Given the description of an element on the screen output the (x, y) to click on. 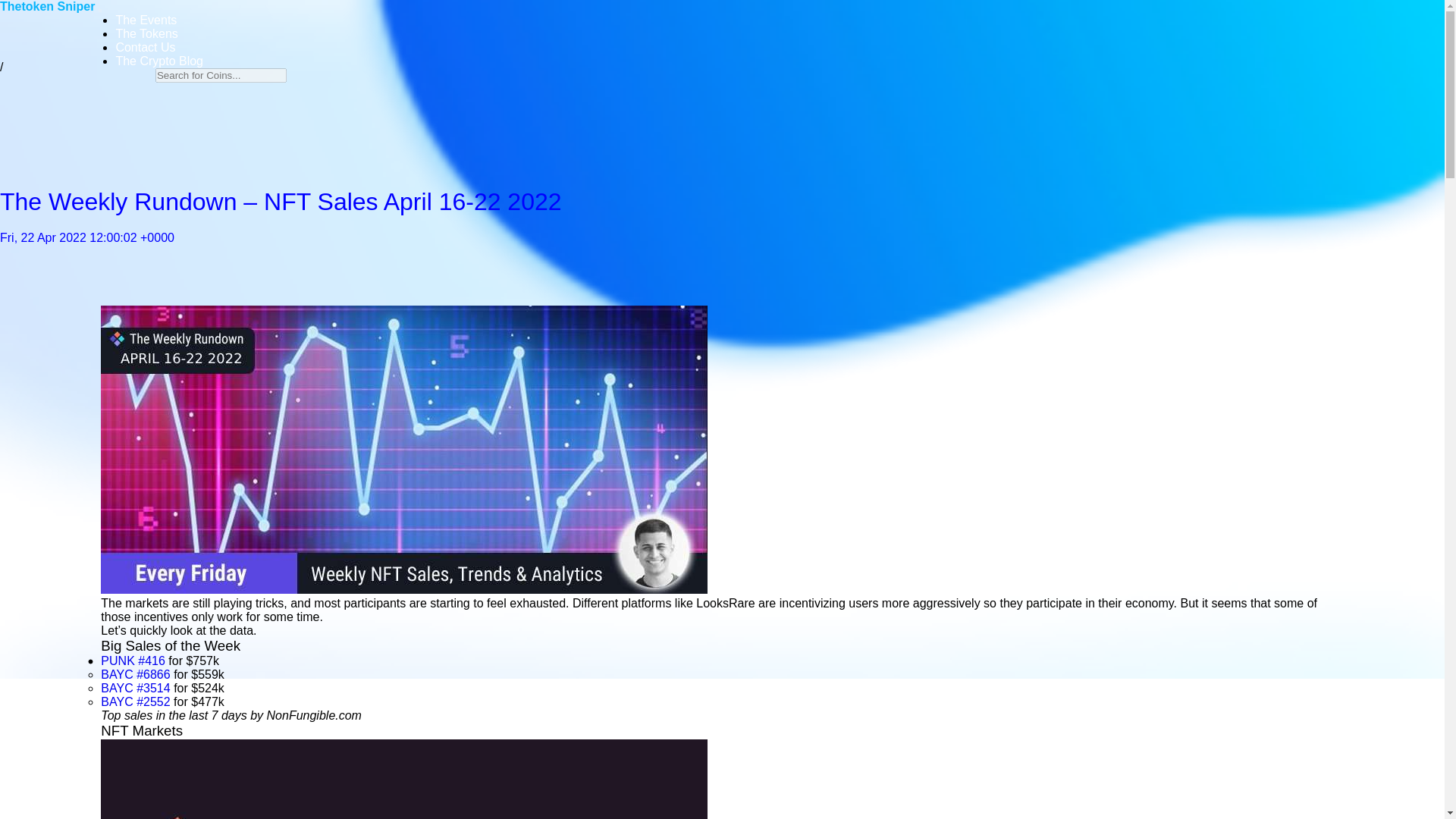
The Crypto Blog (159, 60)
Thetoken Sniper (49, 6)
The Events (145, 19)
The Tokens (146, 33)
Contact Us (144, 47)
